Given the description of an element on the screen output the (x, y) to click on. 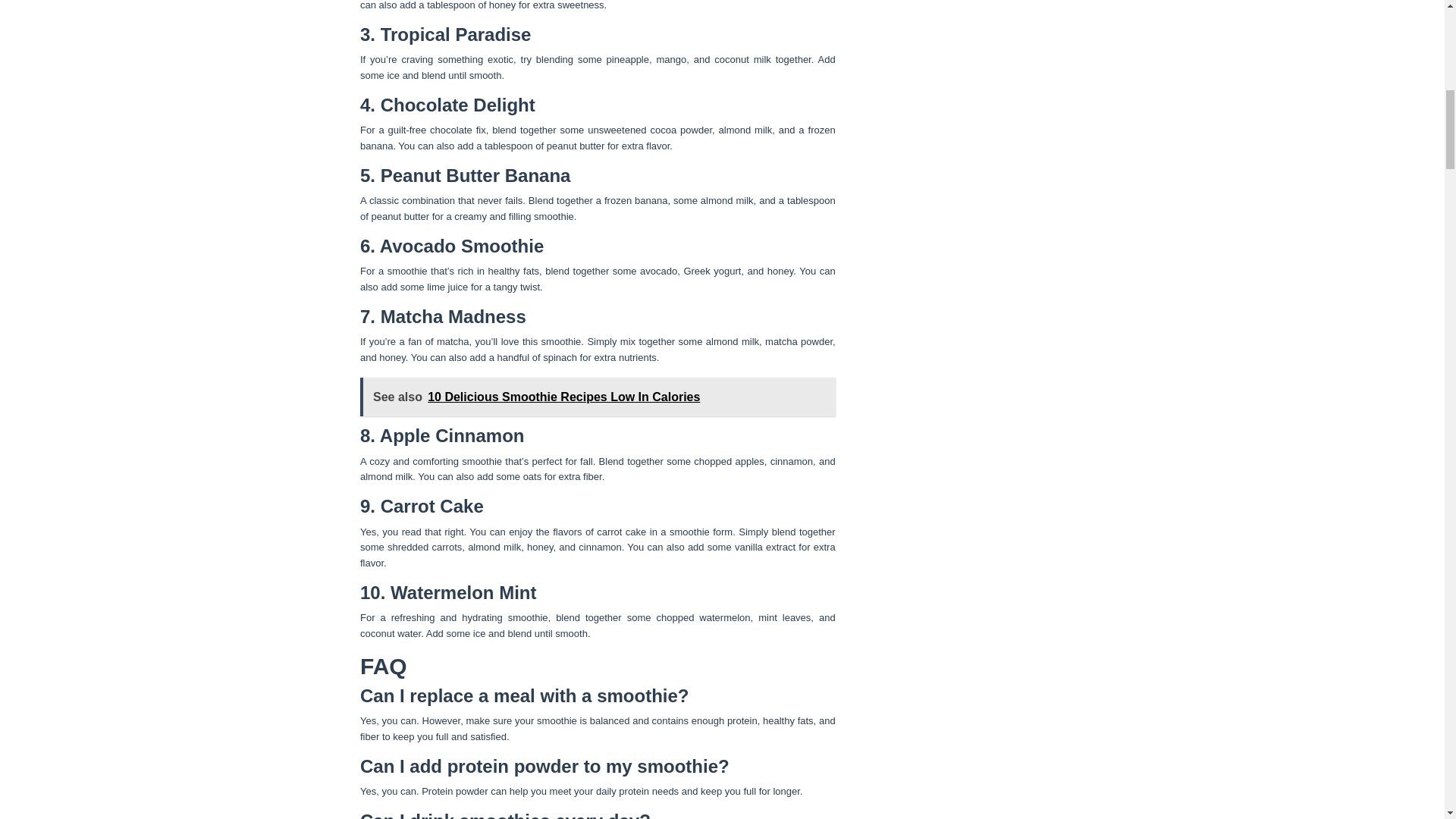
See also  10 Delicious Smoothie Recipes Low In Calories (597, 396)
